Given the description of an element on the screen output the (x, y) to click on. 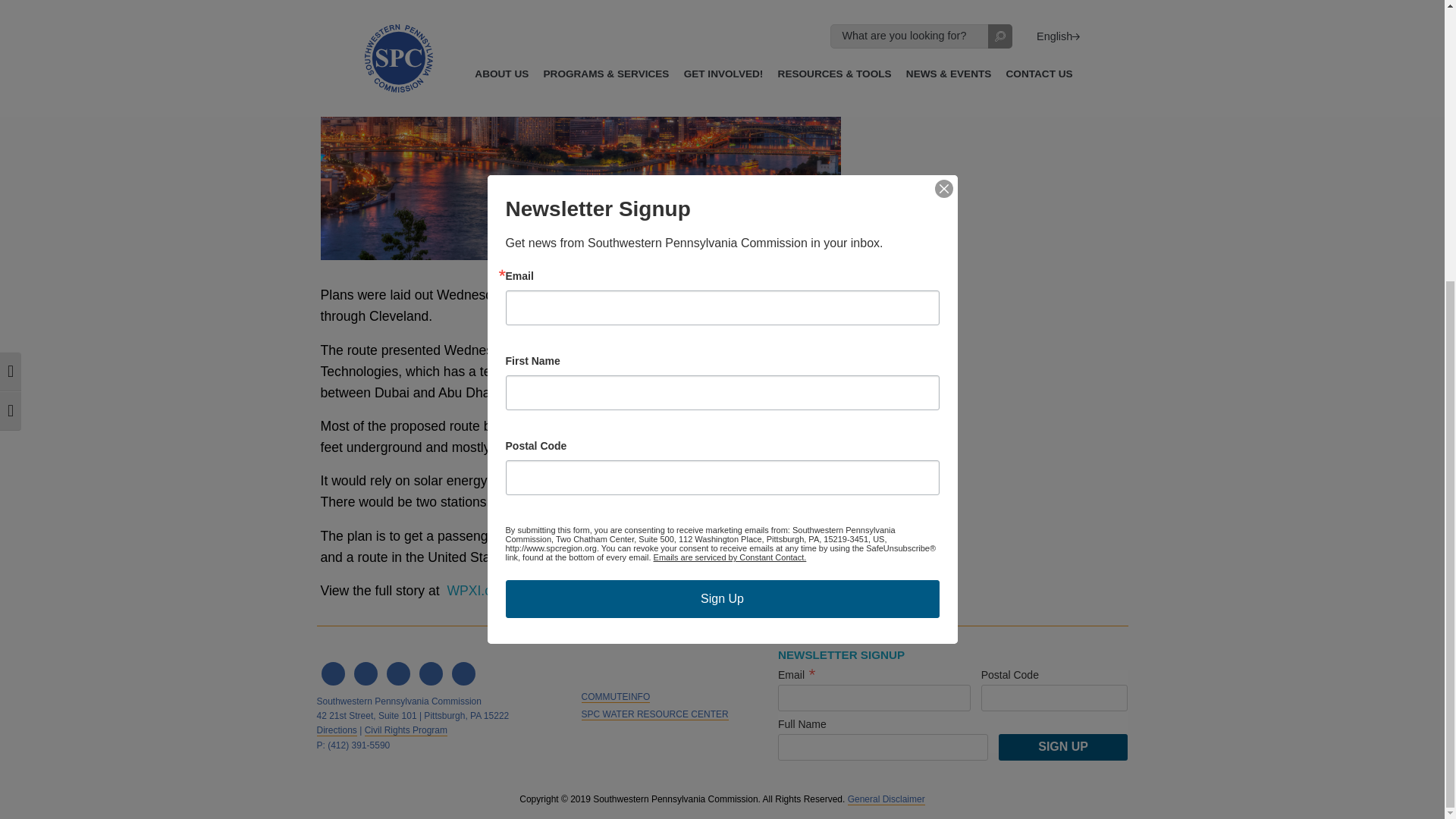
Toggle Font size (10, 5)
